Given the description of an element on the screen output the (x, y) to click on. 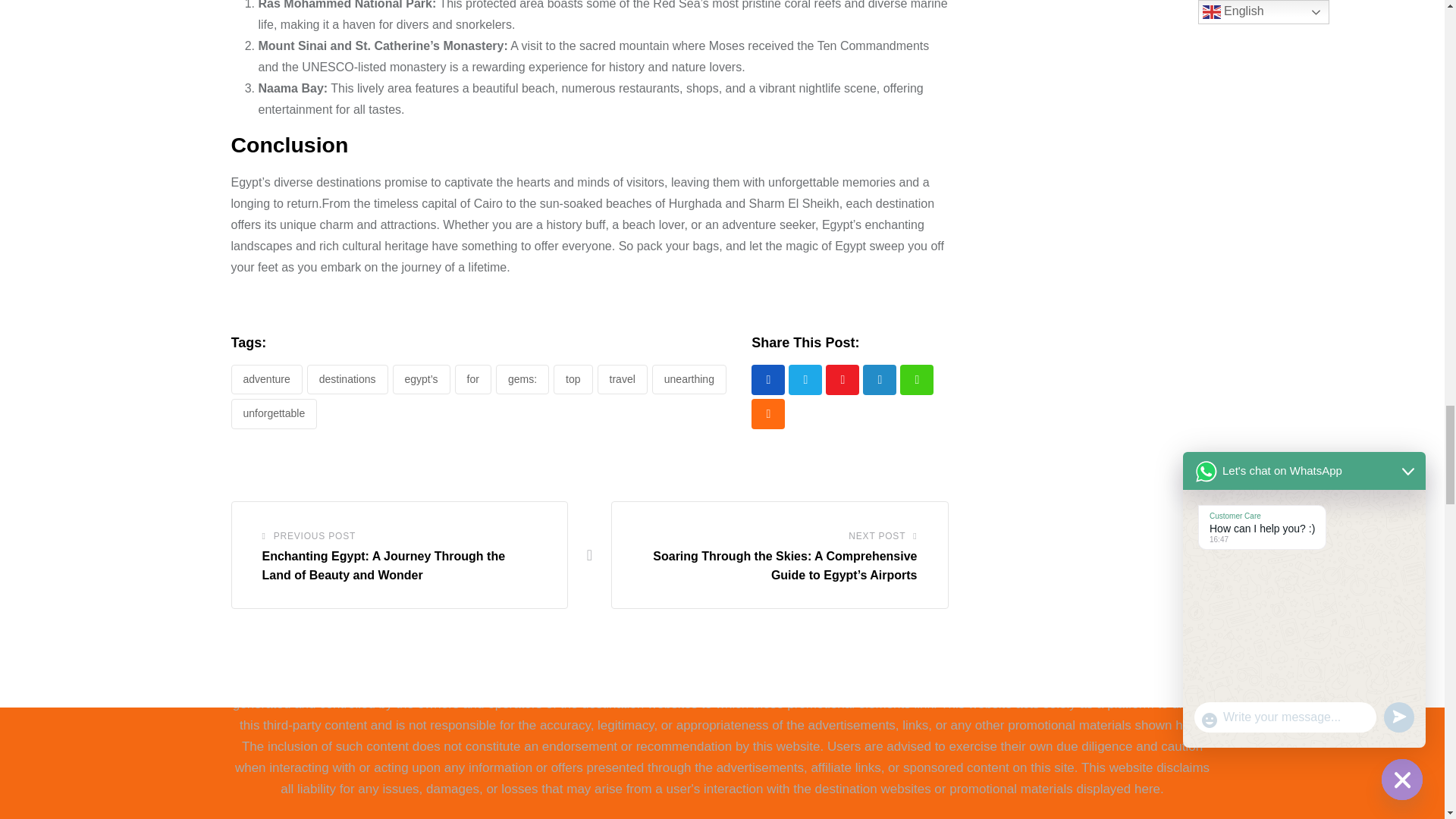
destinations (347, 379)
for (473, 379)
adventure (265, 379)
top (572, 379)
gems: (522, 379)
